Given the description of an element on the screen output the (x, y) to click on. 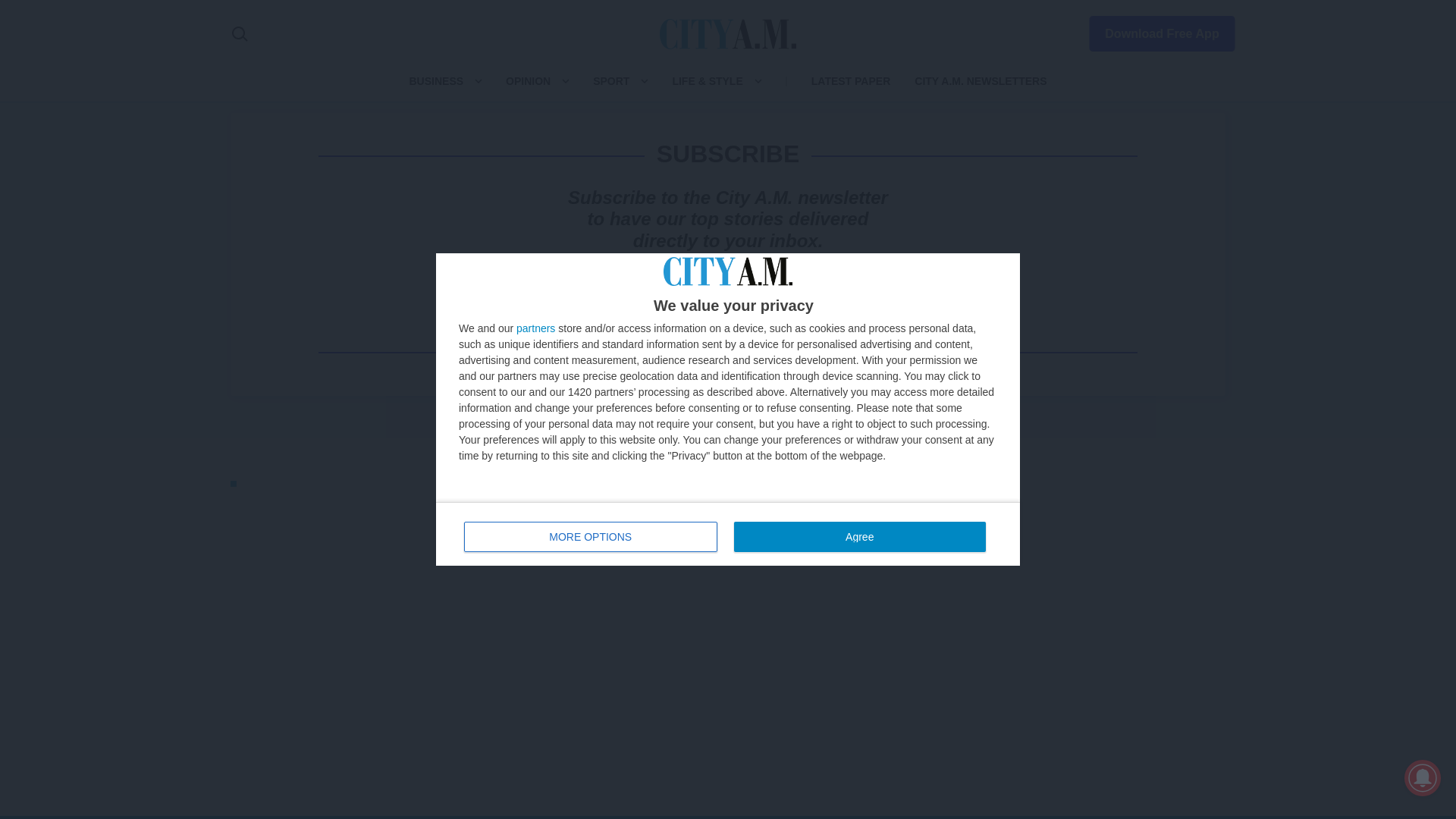
X (1021, 564)
INSTAGRAM (1055, 564)
FACEBOOK (988, 564)
LINKEDIN (1088, 564)
